Given the description of an element on the screen output the (x, y) to click on. 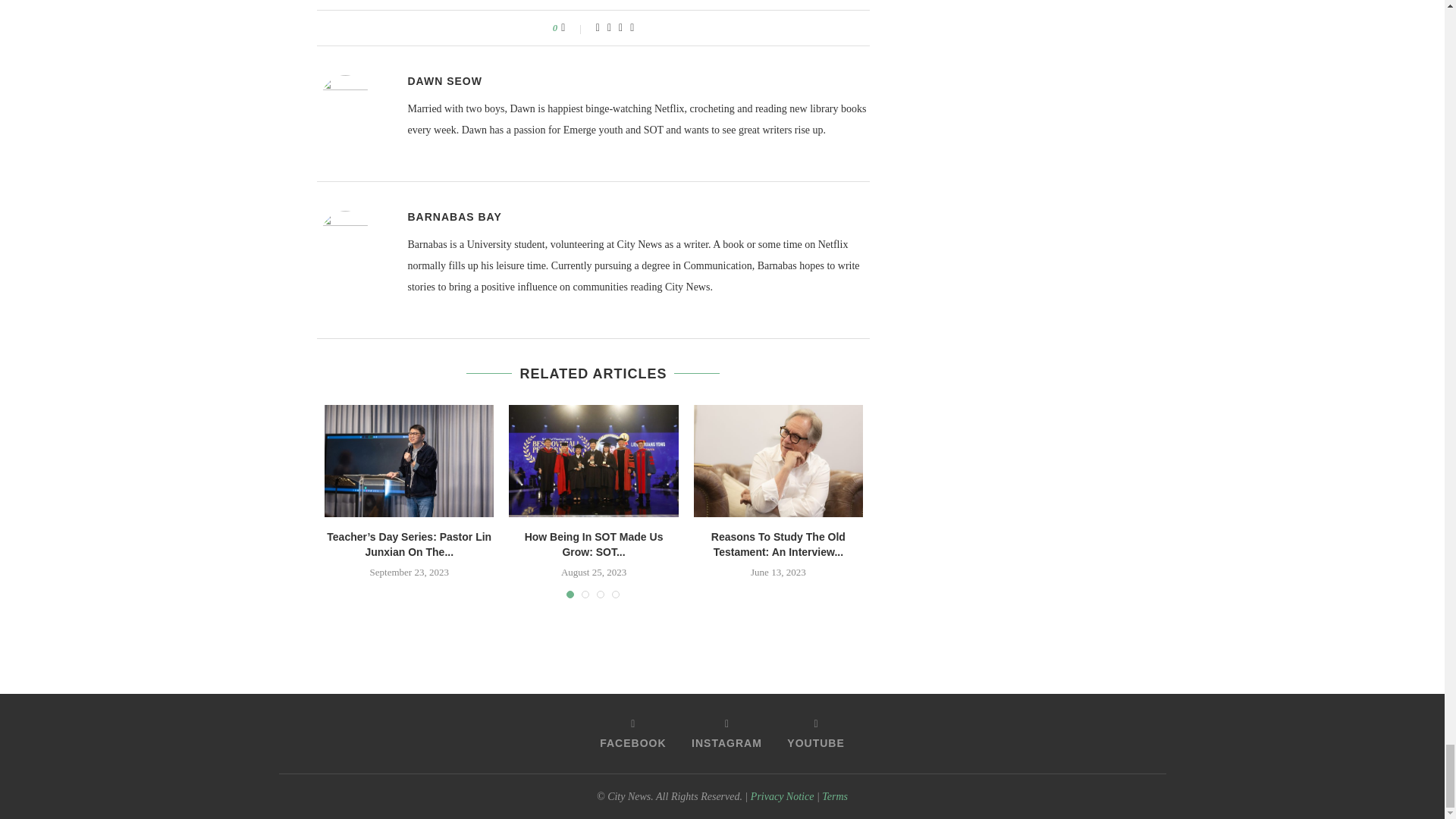
Posts by Barnabas Bay (454, 216)
Like (572, 28)
Posts by Dawn Seow (444, 80)
How Being In SOT Made Us Grow: SOT 2023 Award Winners (593, 460)
